Given the description of an element on the screen output the (x, y) to click on. 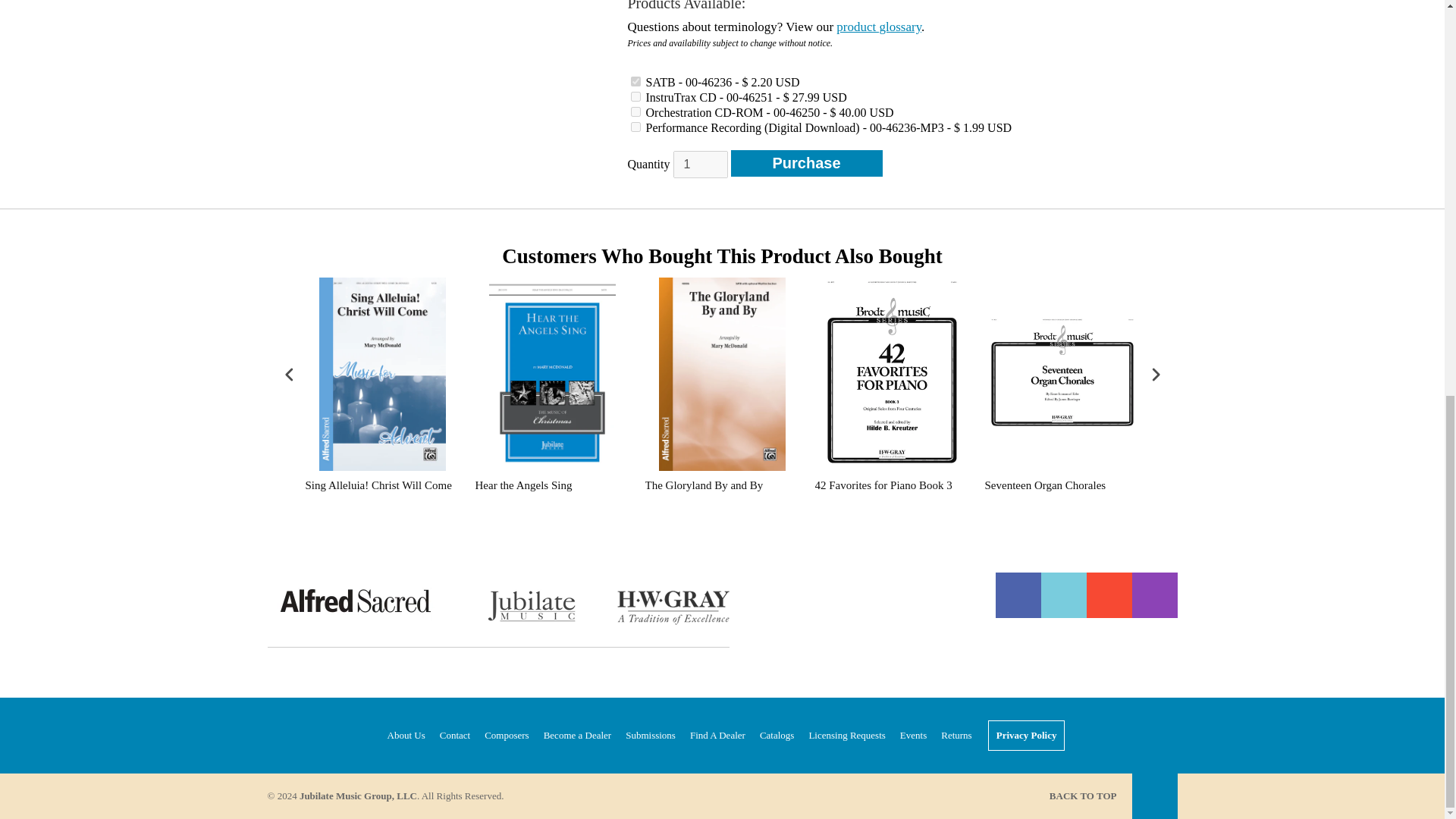
28979792973 (635, 81)
28979793101 (635, 112)
28979793037 (635, 96)
Purchase (806, 162)
1 (700, 164)
43627053318197 (635, 126)
